Given the description of an element on the screen output the (x, y) to click on. 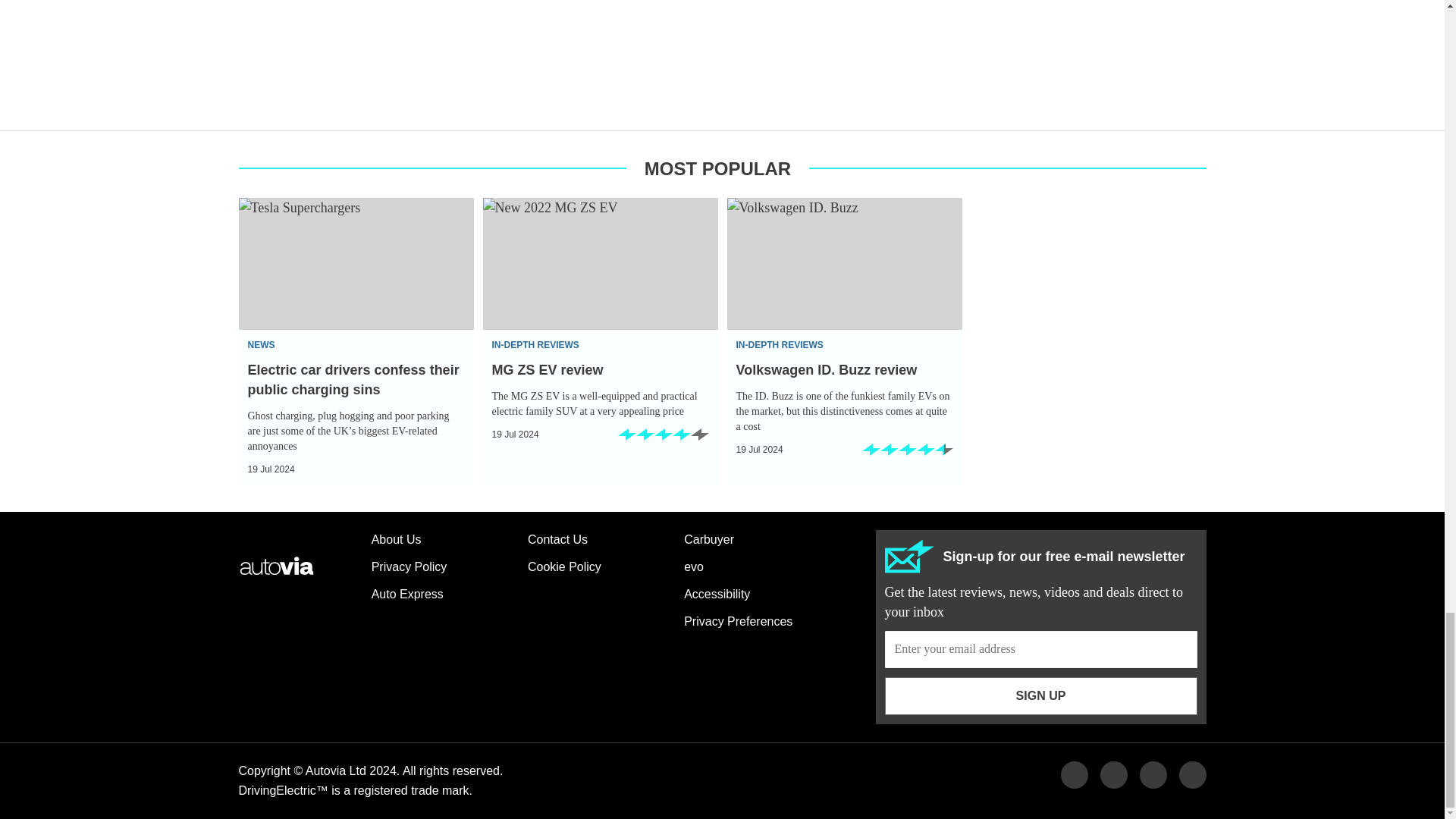
4 Stars (662, 439)
Subscribe (1039, 648)
Subscribe (1039, 695)
4.5 Stars (906, 454)
